Given the description of an element on the screen output the (x, y) to click on. 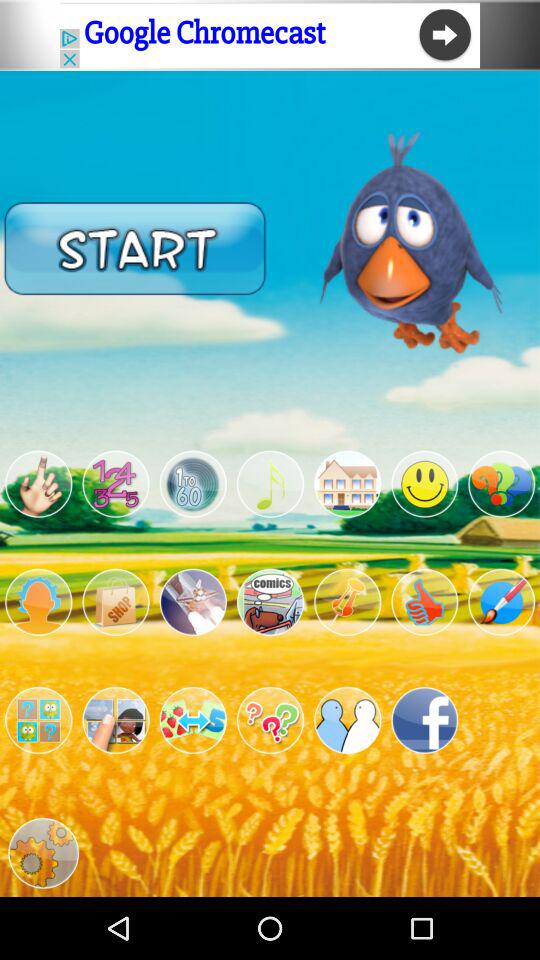
game button (38, 720)
